Given the description of an element on the screen output the (x, y) to click on. 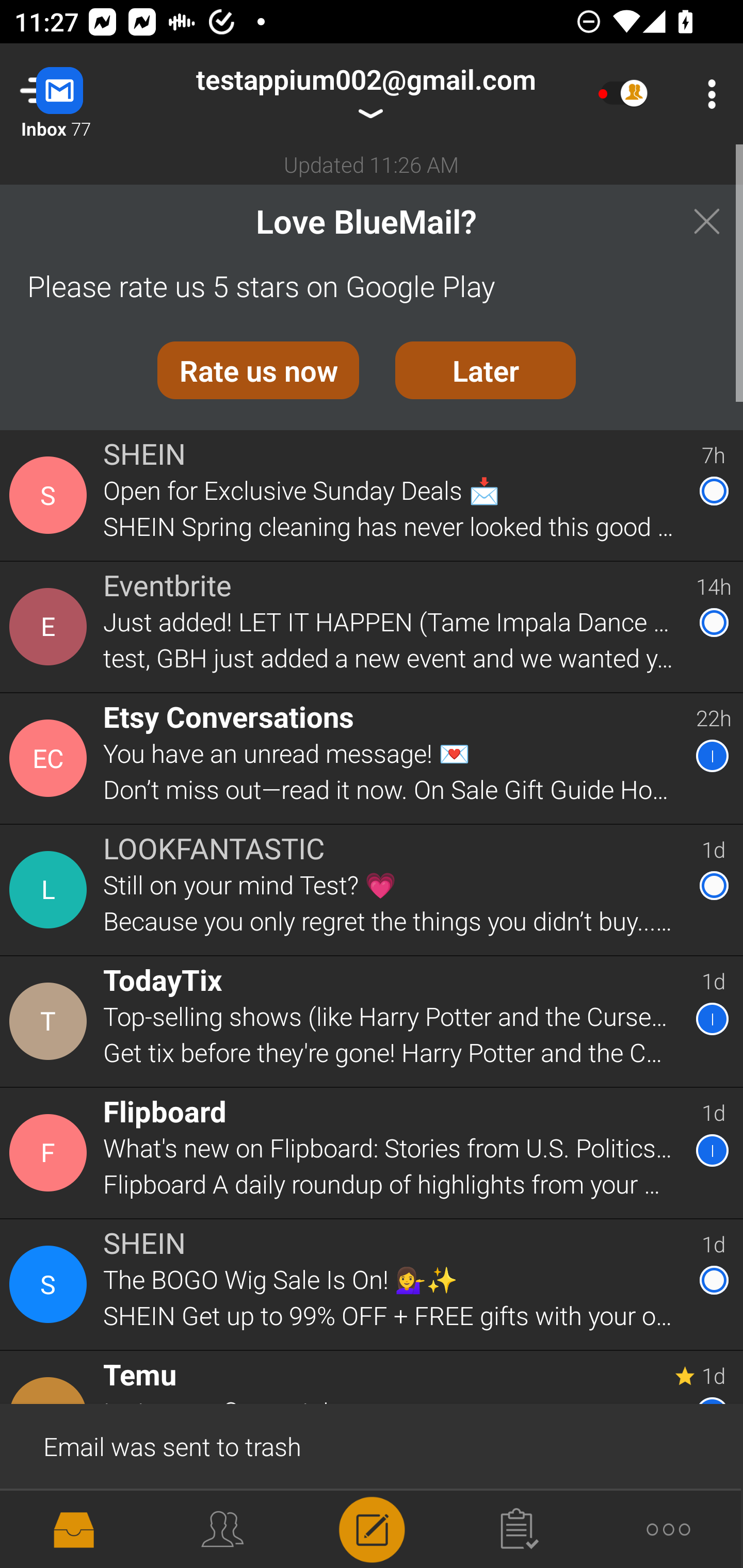
Navigate up (81, 93)
testappium002@gmail.com (365, 93)
More Options (706, 93)
Updated 11:26 AM (371, 164)
Rate us now (257, 370)
Later (485, 370)
Contact Details (50, 495)
Contact Details (50, 626)
Contact Details (50, 758)
Contact Details (50, 889)
Contact Details (50, 1021)
Contact Details (50, 1153)
Contact Details (50, 1284)
Email was sent to trash (371, 1445)
Contact Details (50, 1524)
Compose (371, 1528)
